Given the description of an element on the screen output the (x, y) to click on. 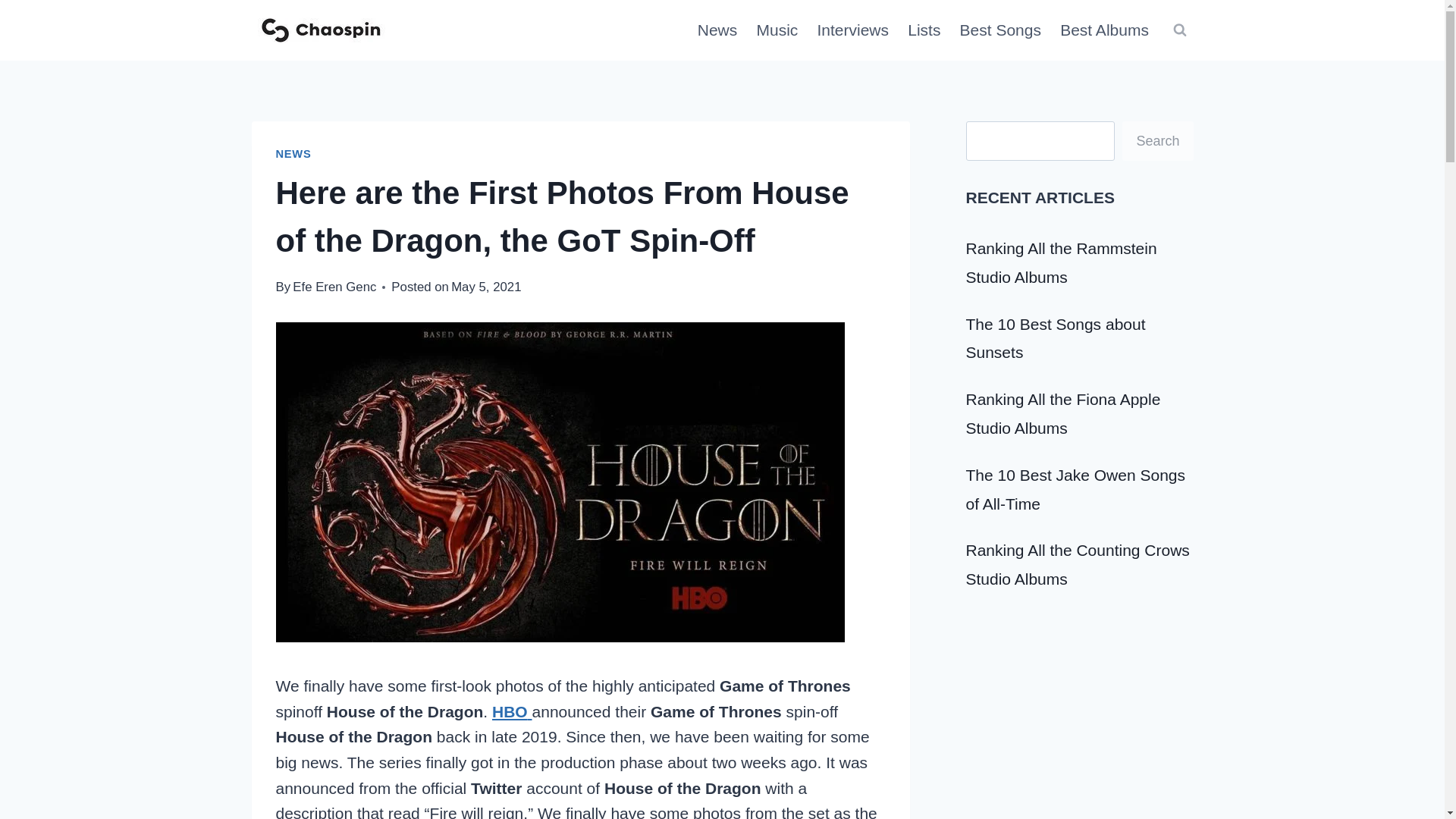
Best Songs (1000, 30)
News (716, 30)
Best Albums (1104, 30)
Efe Eren Genc (333, 287)
Interviews (853, 30)
NEWS (293, 153)
Lists (924, 30)
Music (777, 30)
HBO (512, 711)
